Given the description of an element on the screen output the (x, y) to click on. 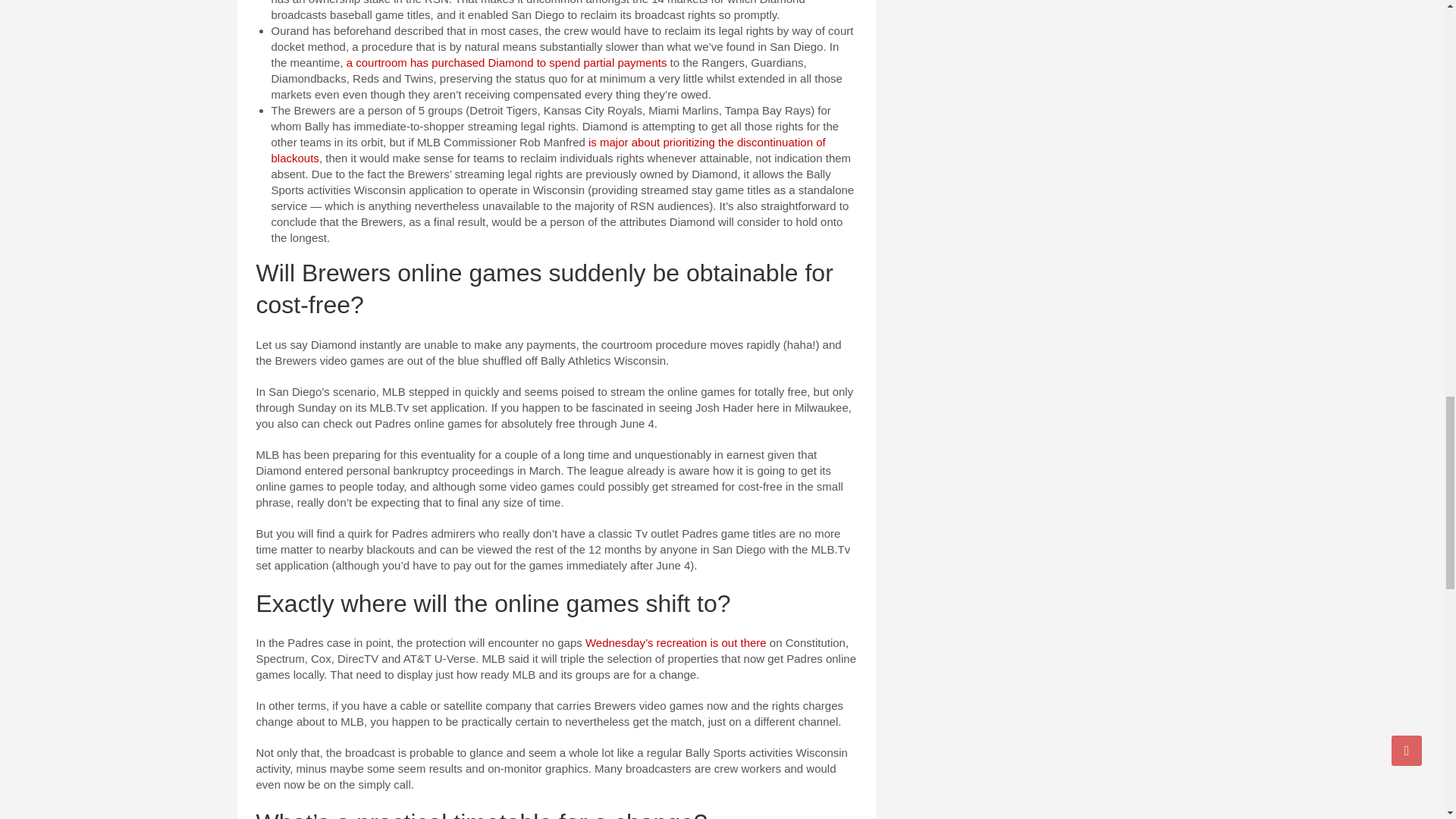
a courtroom has purchased Diamond to spend partial payments (506, 62)
is major about prioritizing the discontinuation of blackouts (547, 149)
